Given the description of an element on the screen output the (x, y) to click on. 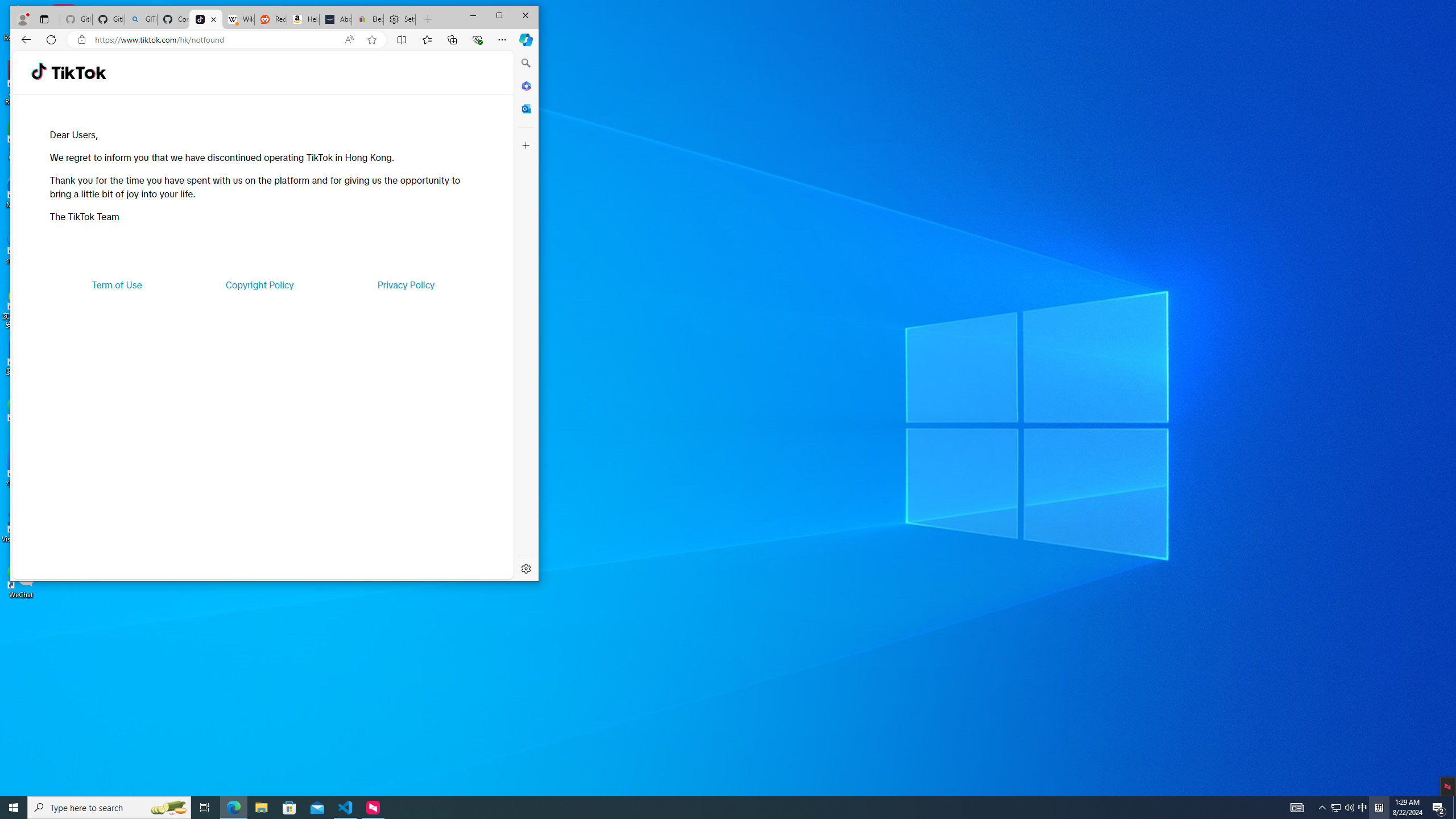
Maximize (499, 15)
GITHUB - Search (140, 19)
